Given the description of an element on the screen output the (x, y) to click on. 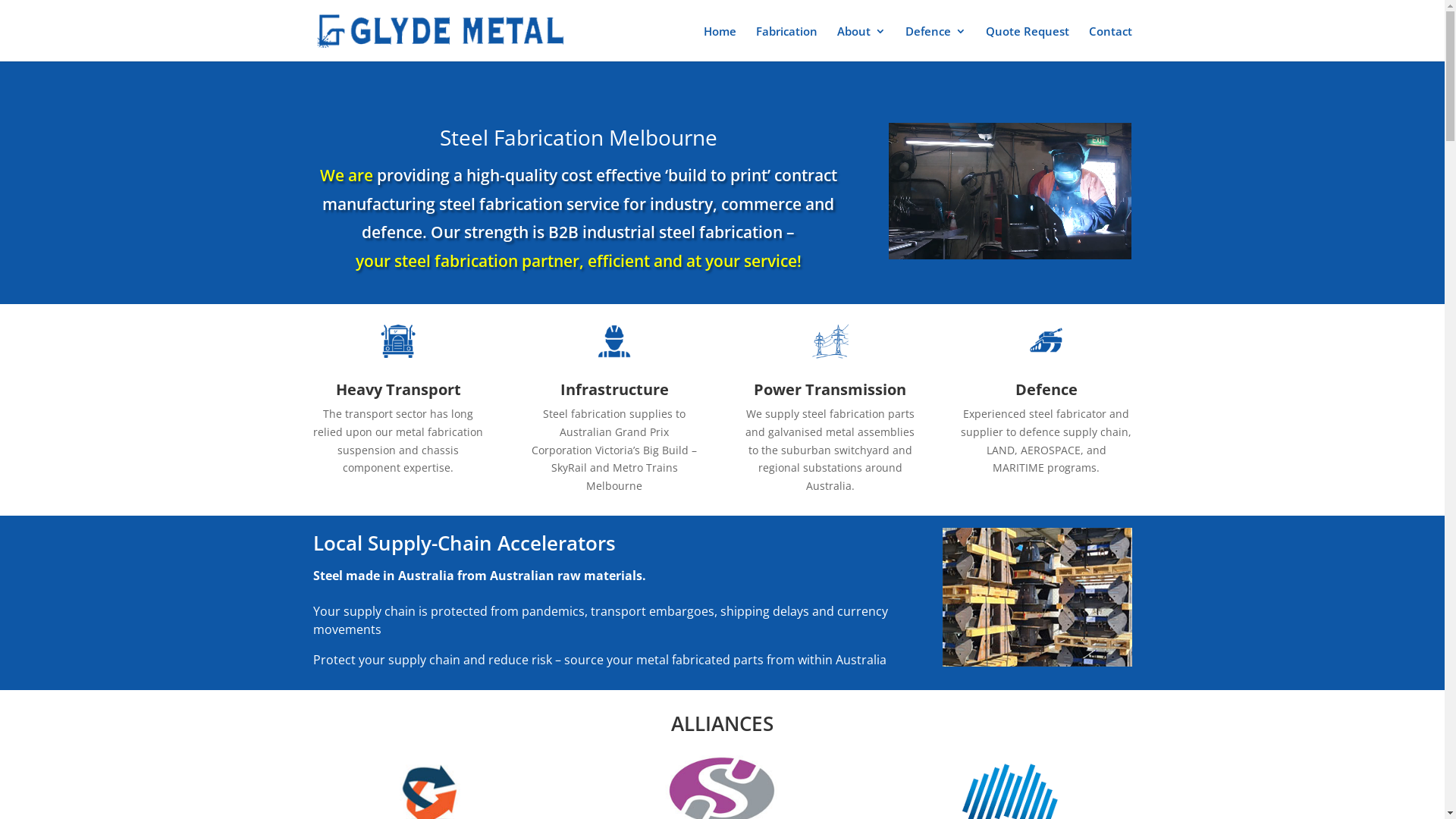
Fabrication Element type: text (785, 43)
Contact Element type: text (1110, 43)
Quote Request Element type: text (1027, 43)
About Element type: text (861, 43)
Defence Element type: text (935, 43)
Home Element type: text (719, 43)
